Given the description of an element on the screen output the (x, y) to click on. 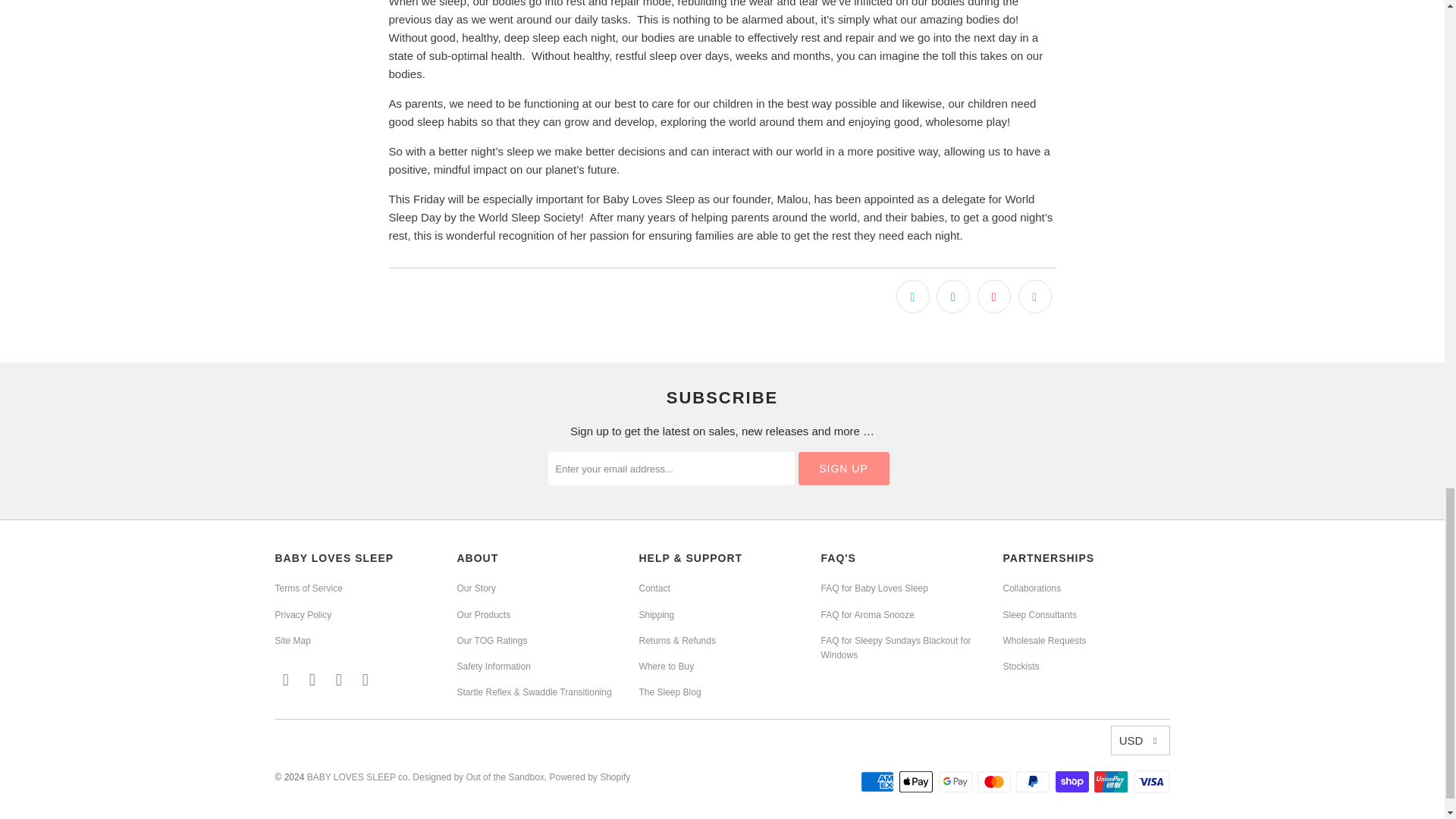
American Express (878, 781)
Shop Pay (1073, 781)
Visa (1150, 781)
Email BABY LOVES SLEEP co (286, 679)
BABY LOVES SLEEP co on Instagram (339, 679)
Share this on Facebook (952, 296)
BABY LOVES SLEEP co on Facebook (312, 679)
Google Pay (957, 781)
Union Pay (1112, 781)
Email this to a friend (1034, 296)
Sign Up (842, 468)
Mastercard (994, 781)
PayPal (1034, 781)
BABY LOVES SLEEP co on YouTube (366, 679)
Apple Pay (917, 781)
